Given the description of an element on the screen output the (x, y) to click on. 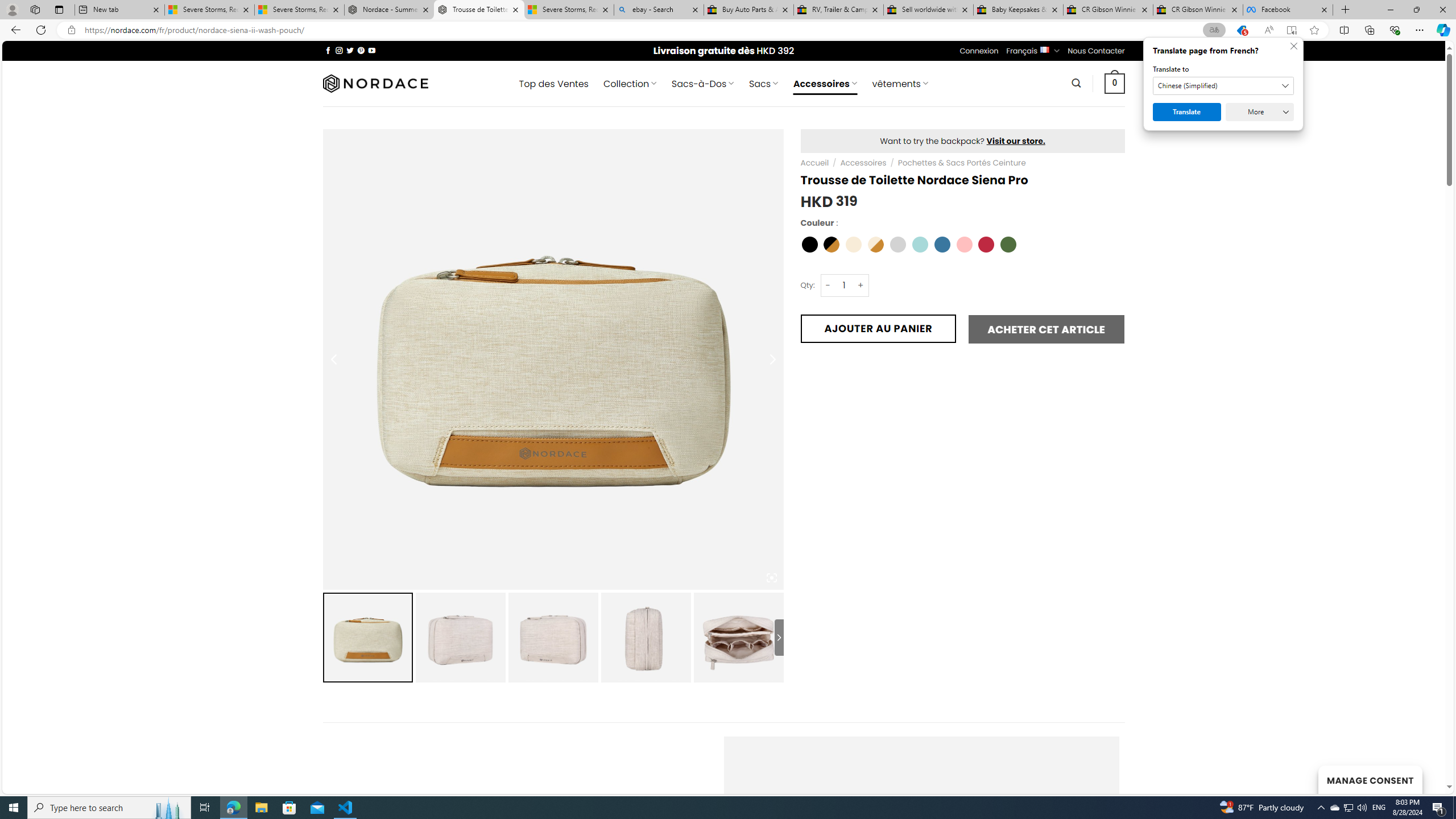
Show translate options (1213, 29)
AJOUTER AU PANIER (878, 328)
Nous Contacter (1096, 50)
Trousse de Toilette Nordace Siena Pro (478, 9)
 0  (1115, 83)
ebay - Search (658, 9)
Nous suivre sur Pinterest (360, 49)
